Given the description of an element on the screen output the (x, y) to click on. 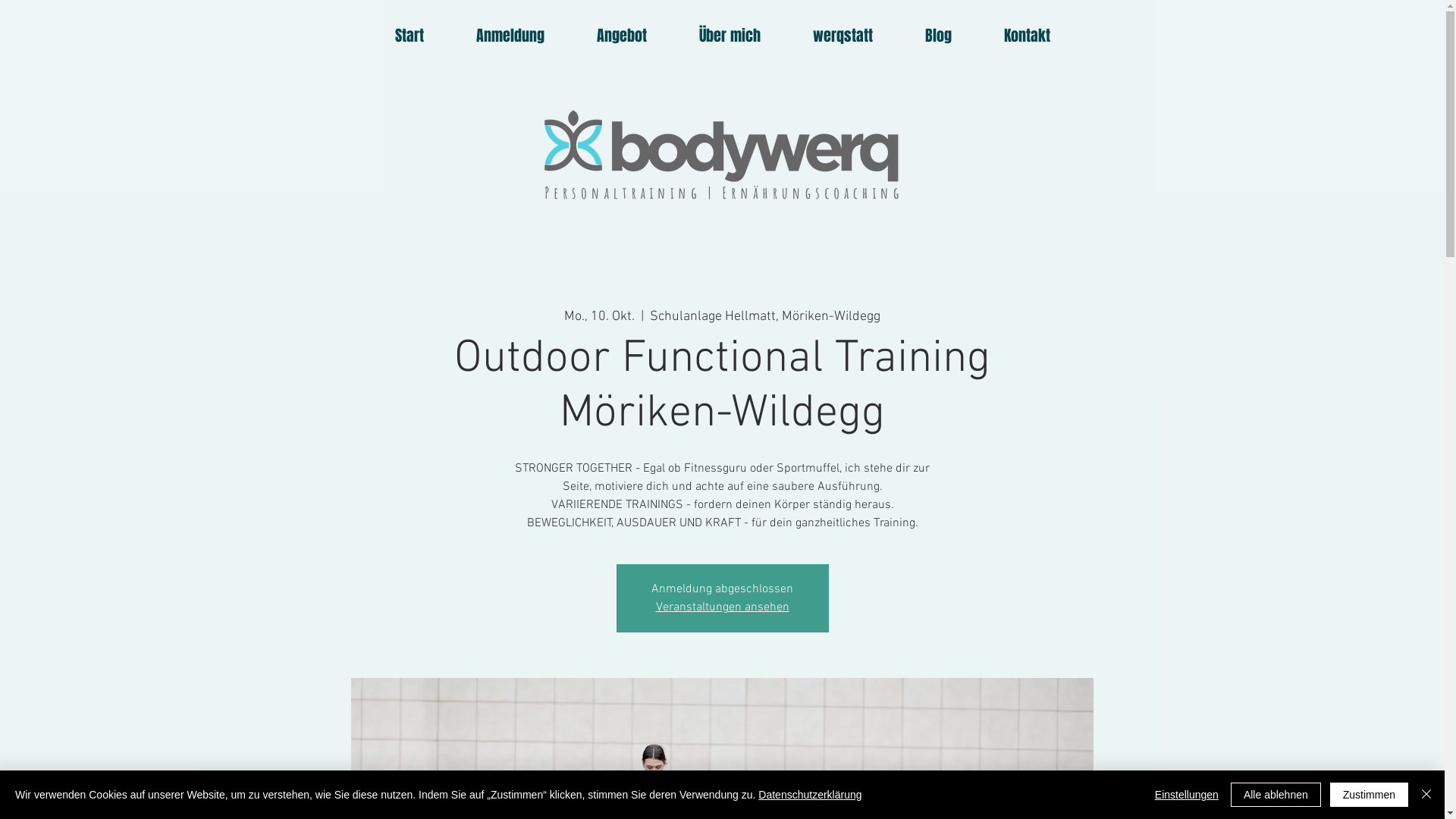
Anmeldung Element type: text (510, 35)
Angebot Element type: text (621, 35)
Kontakt Element type: text (1027, 35)
Veranstaltungen ansehen Element type: text (721, 607)
werqstatt Element type: text (843, 35)
Start Element type: text (408, 35)
Zustimmen Element type: text (1369, 794)
Alle ablehnen Element type: text (1275, 794)
Blog Element type: text (938, 35)
